Given the description of an element on the screen output the (x, y) to click on. 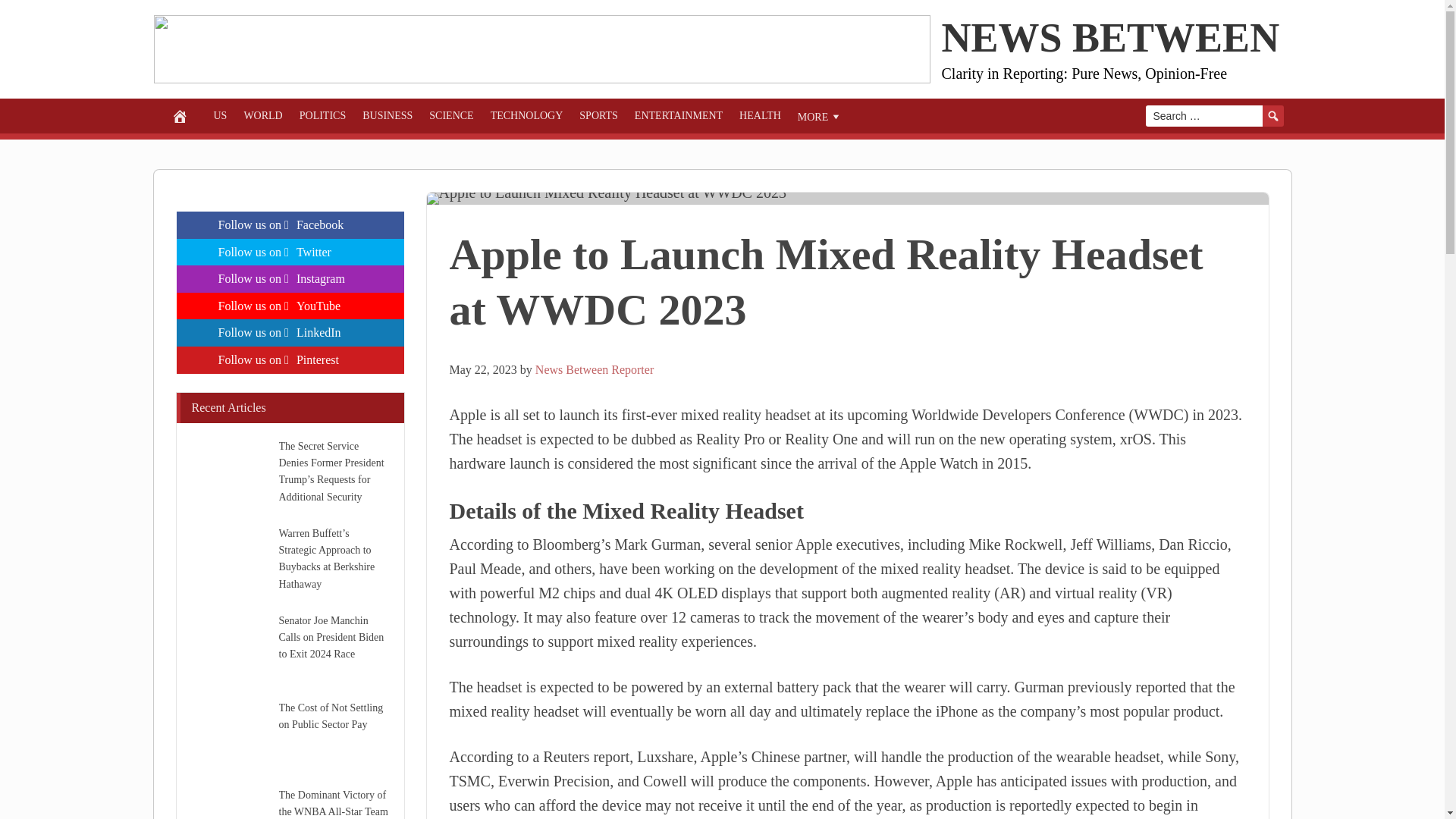
TECHNOLOGY (526, 115)
NEWS BETWEEN (1110, 37)
POLITICS (322, 115)
MORE (819, 115)
HEALTH (759, 115)
WORLD (261, 115)
SPORTS (598, 115)
ENTERTAINMENT (678, 115)
US (219, 115)
SCIENCE (450, 115)
BUSINESS (386, 115)
